Given the description of an element on the screen output the (x, y) to click on. 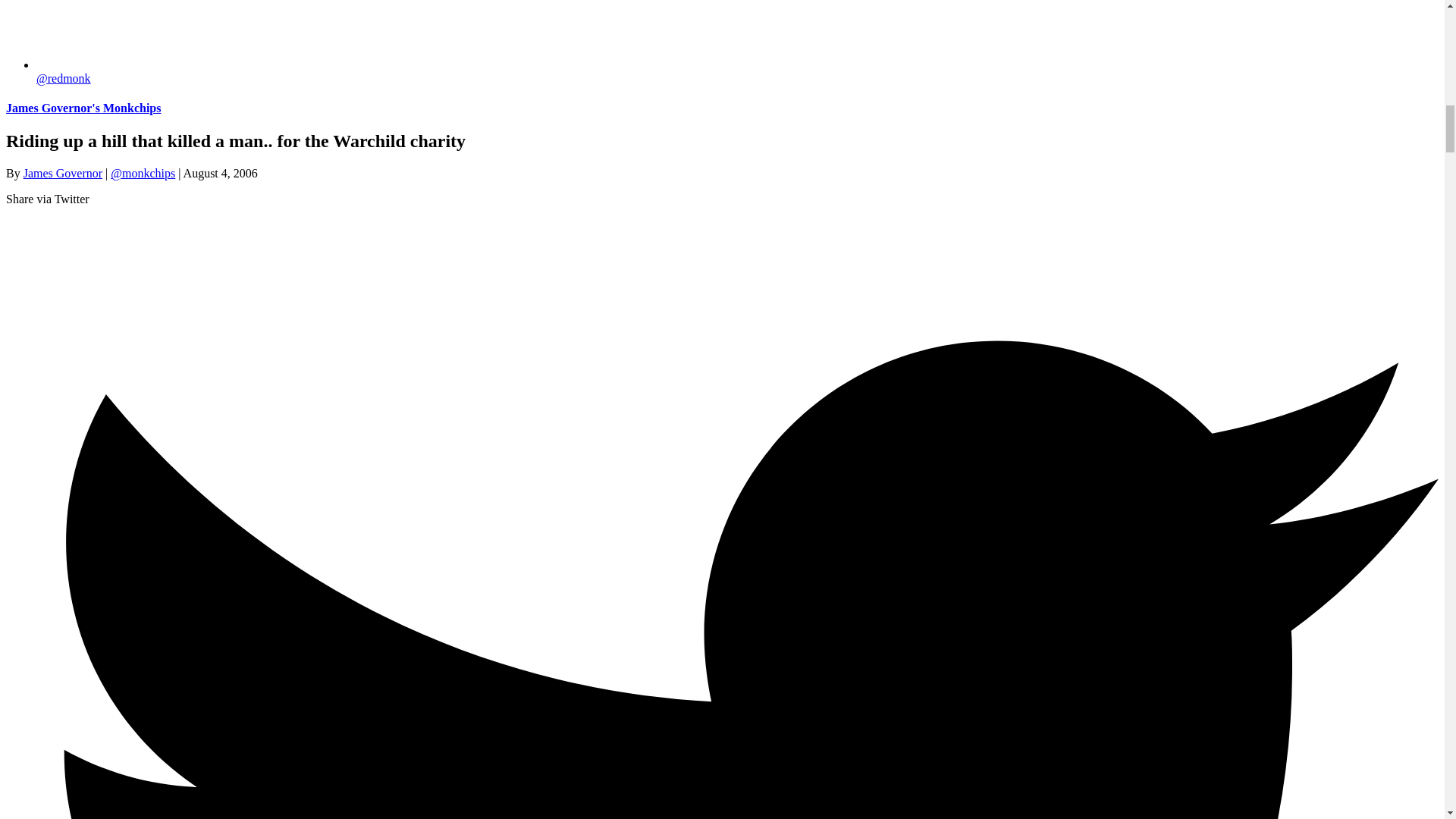
James Governor (62, 173)
James Governor's Monkchips (82, 107)
